Given the description of an element on the screen output the (x, y) to click on. 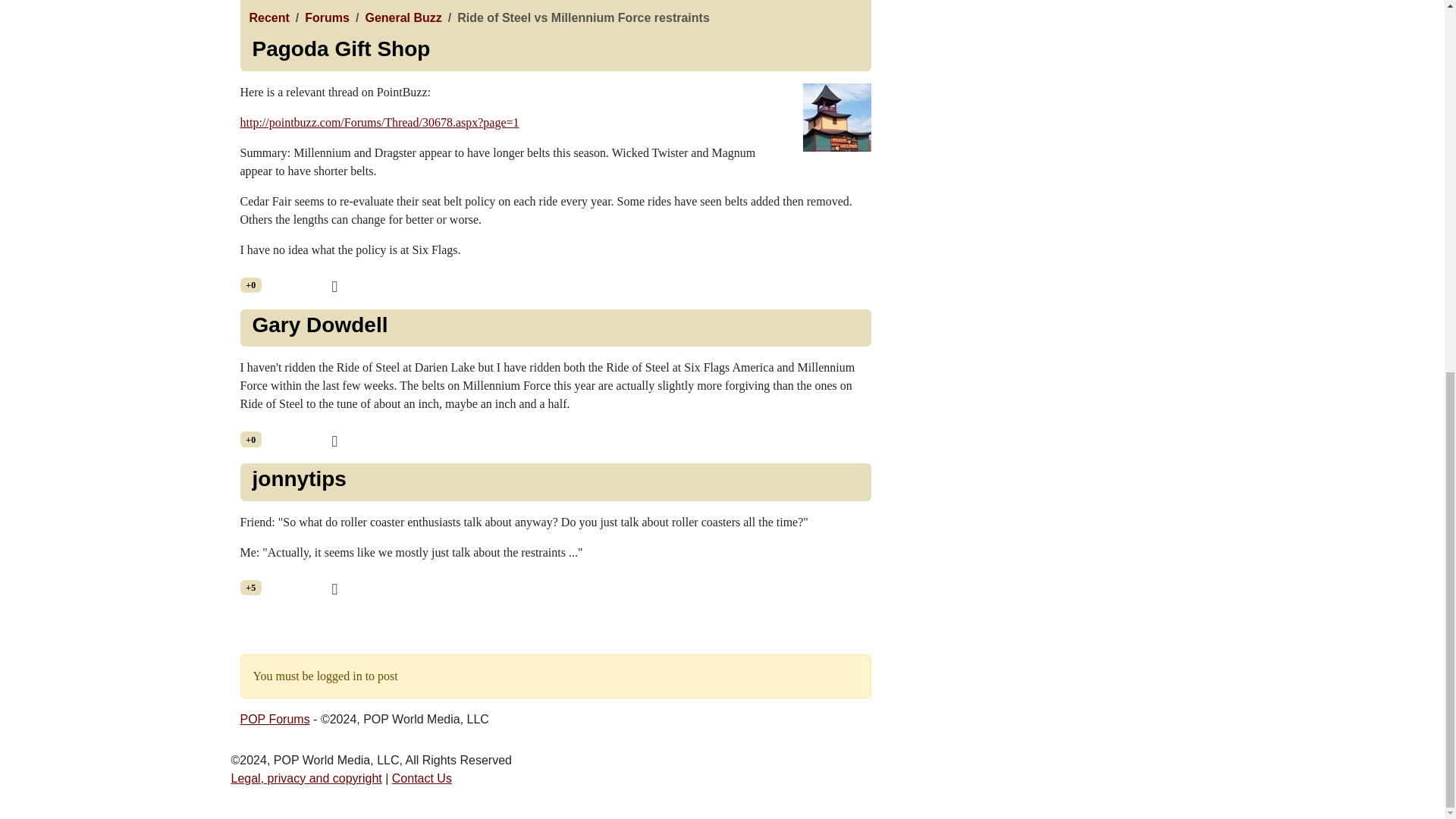
POP Forums (274, 718)
Legal, privacy and copyright (305, 778)
Contact Us (421, 778)
